Given the description of an element on the screen output the (x, y) to click on. 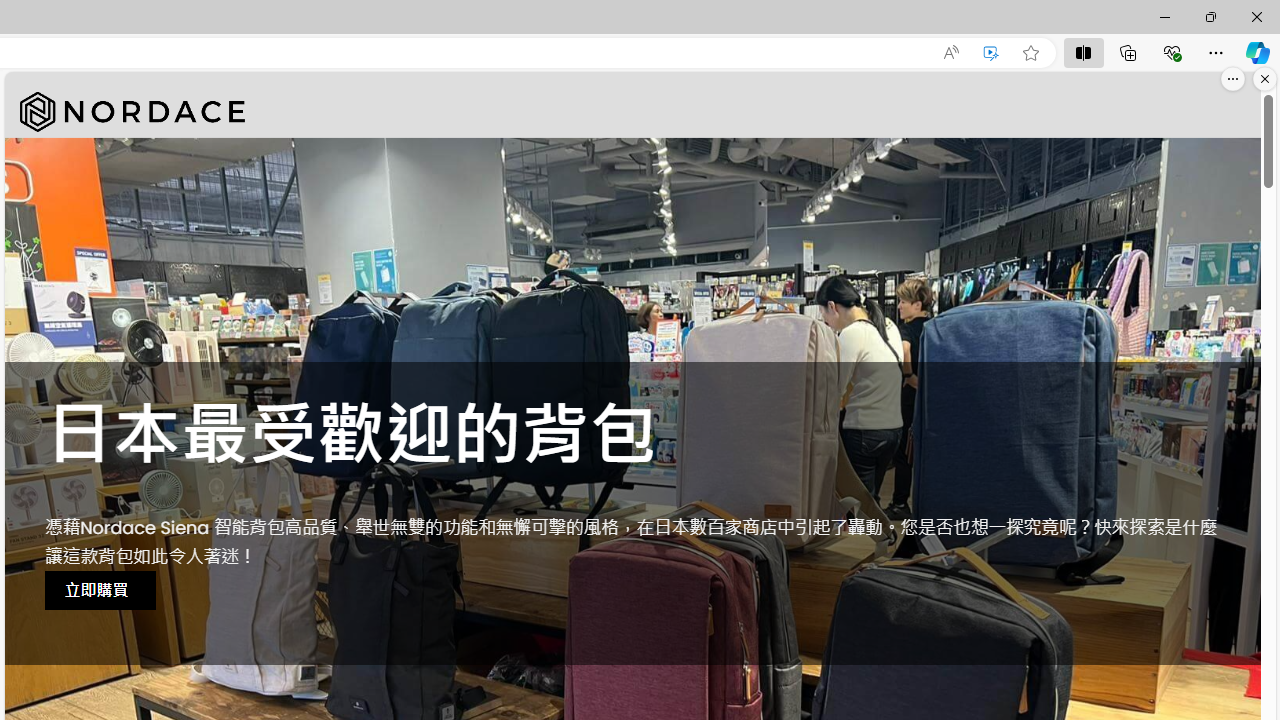
Enhance video (991, 53)
More options. (1233, 79)
